Given the description of an element on the screen output the (x, y) to click on. 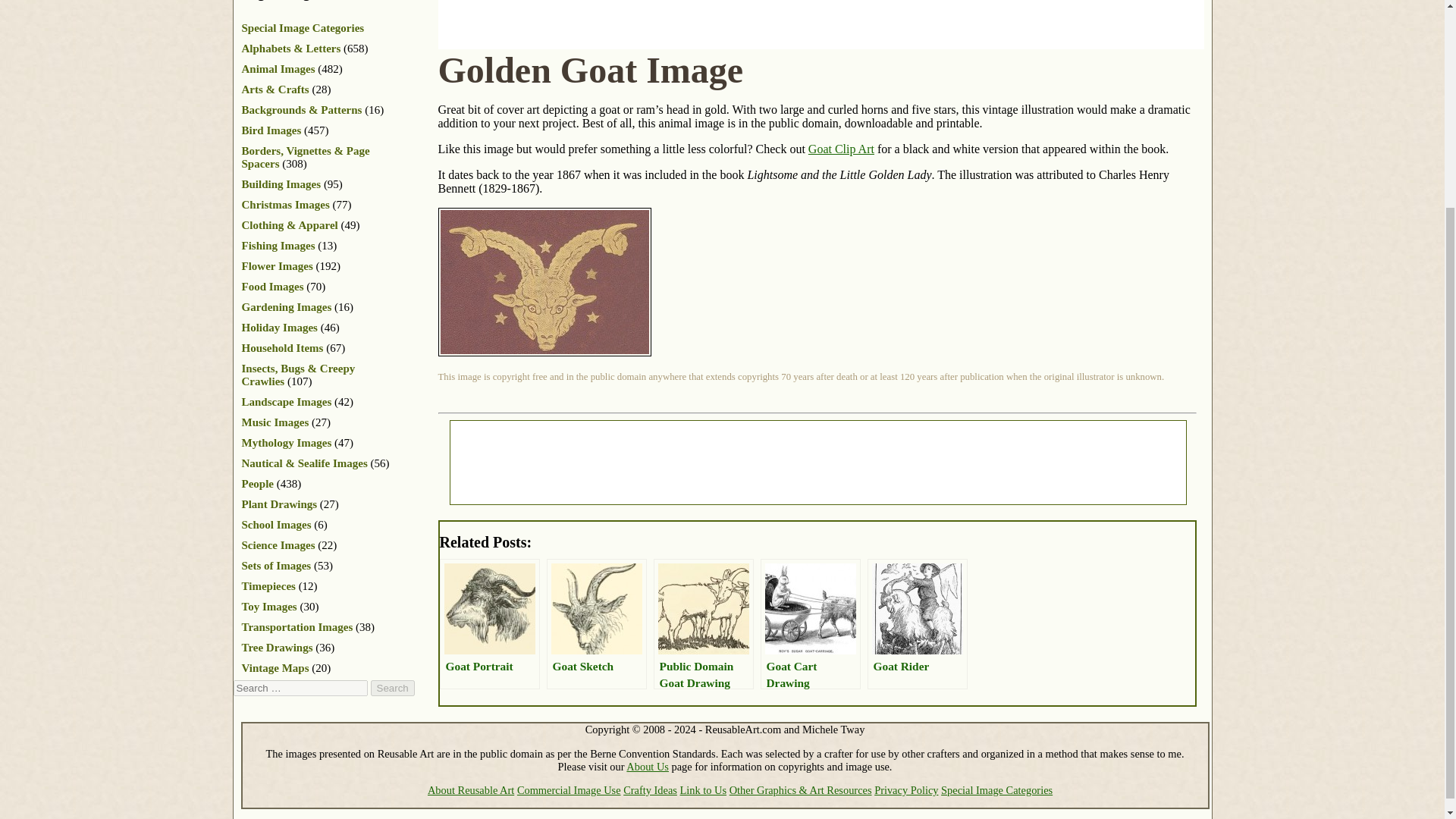
Landscape Images (286, 401)
Science Images (277, 544)
Goat Clip Art (841, 148)
Toy Images (269, 606)
Search (391, 688)
People (257, 483)
Household Items (282, 347)
Advertisement (714, 22)
Fishing Images (277, 245)
Special Image Categories (302, 28)
Food Images (271, 286)
Vintage Maps (274, 667)
Animal Images (277, 69)
Sets of Images (276, 565)
Transportation Images (296, 626)
